Given the description of an element on the screen output the (x, y) to click on. 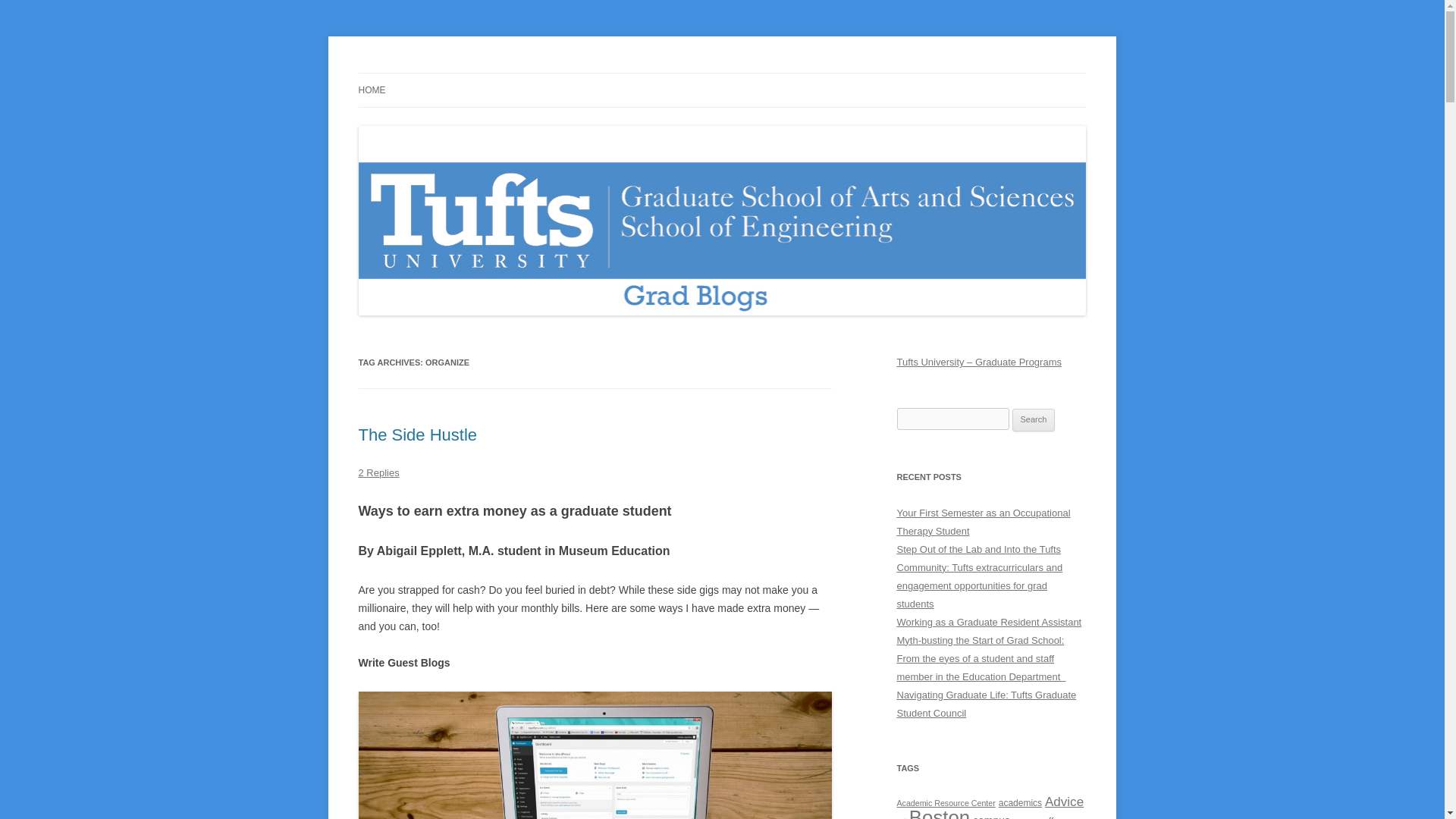
Graduate Blogs (430, 72)
Graduate Blogs (430, 72)
2 Replies (378, 472)
Search (1033, 419)
The Side Hustle (417, 434)
HOME (371, 90)
